Given the description of an element on the screen output the (x, y) to click on. 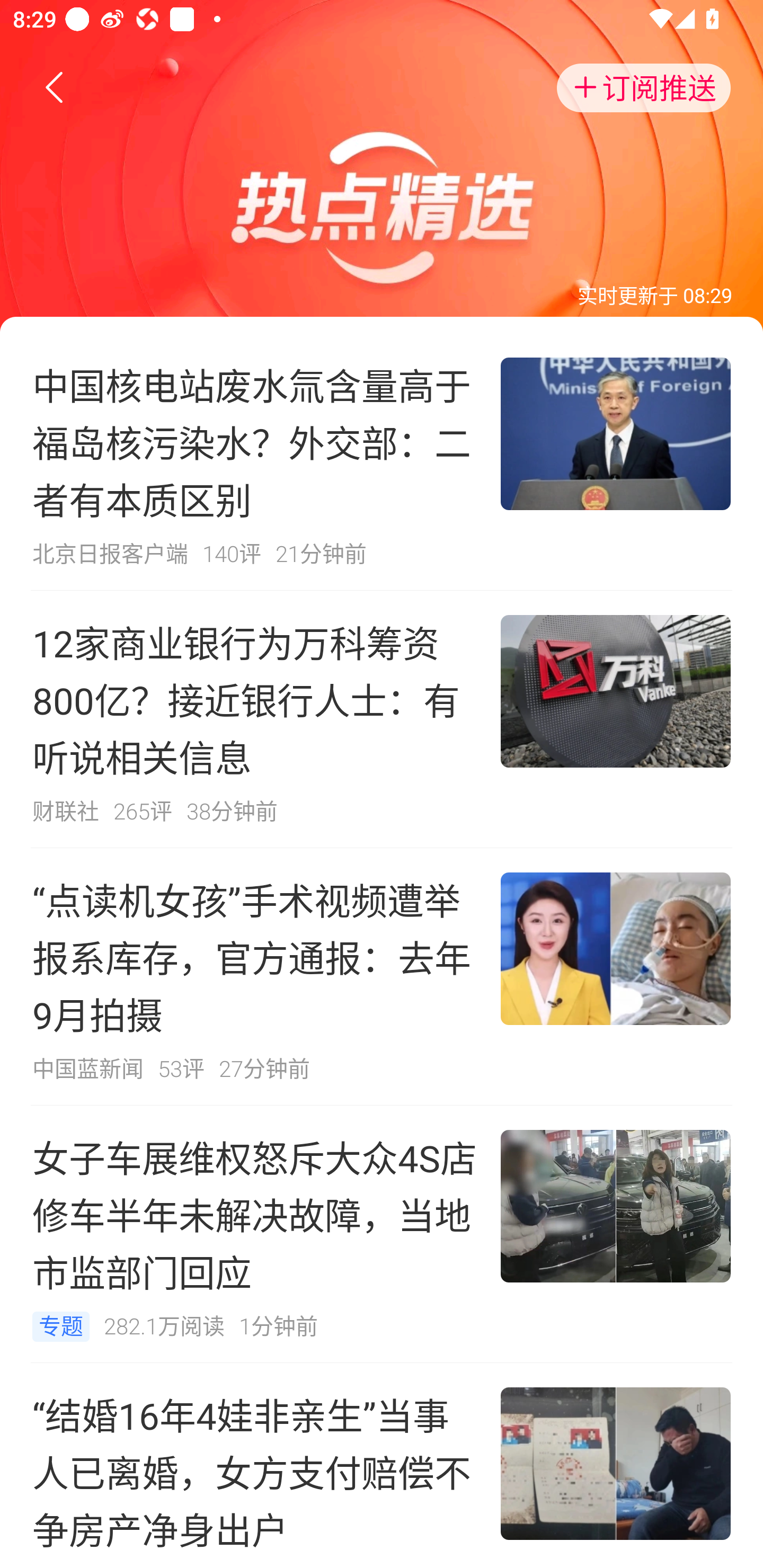
 订阅推送 实时更新于 08:29 (381, 166)
 返回 (54, 87)
 订阅推送 (643, 88)
中国核电站废水氚含量高于福岛核污染水？外交部：二者有本质区别 北京日报客户端 140评 21分钟前 (381, 460)
12家商业银行为万科筹资800亿？接近银行人士：有听说相关信息 财联社 265评 38分钟前 (381, 719)
“点读机女孩”手术视频遭举报系库存，官方通报：去年9月拍摄 中国蓝新闻 53评 27分钟前 (381, 976)
女子车展维权怒斥大众4S店修车半年未解决故障，当地市监部门回应 专题 282.1万阅读 1分钟前 (381, 1233)
“结婚16年4娃非亲生”当事人已离婚，女方支付赔偿不争房产净身出户 (381, 1465)
